Given the description of an element on the screen output the (x, y) to click on. 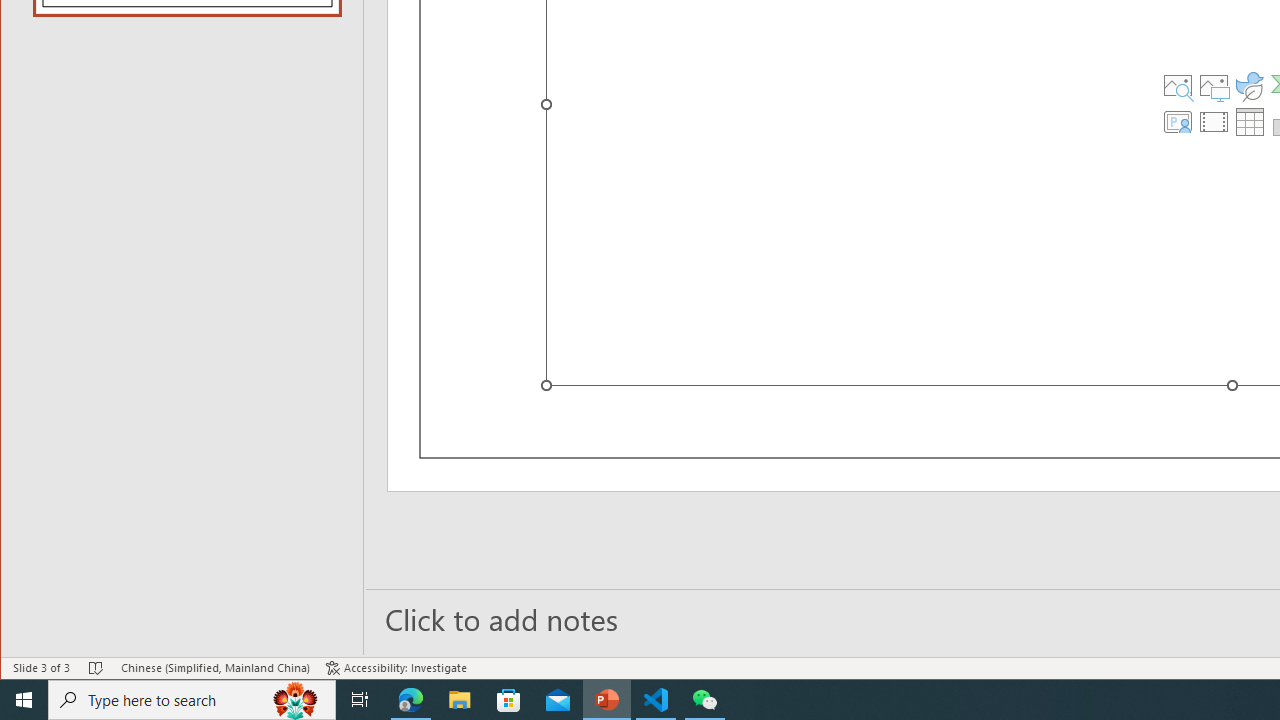
Insert Video (1214, 121)
Stock Images (1178, 85)
Insert an Icon (1249, 85)
Insert Table (1249, 121)
